Given the description of an element on the screen output the (x, y) to click on. 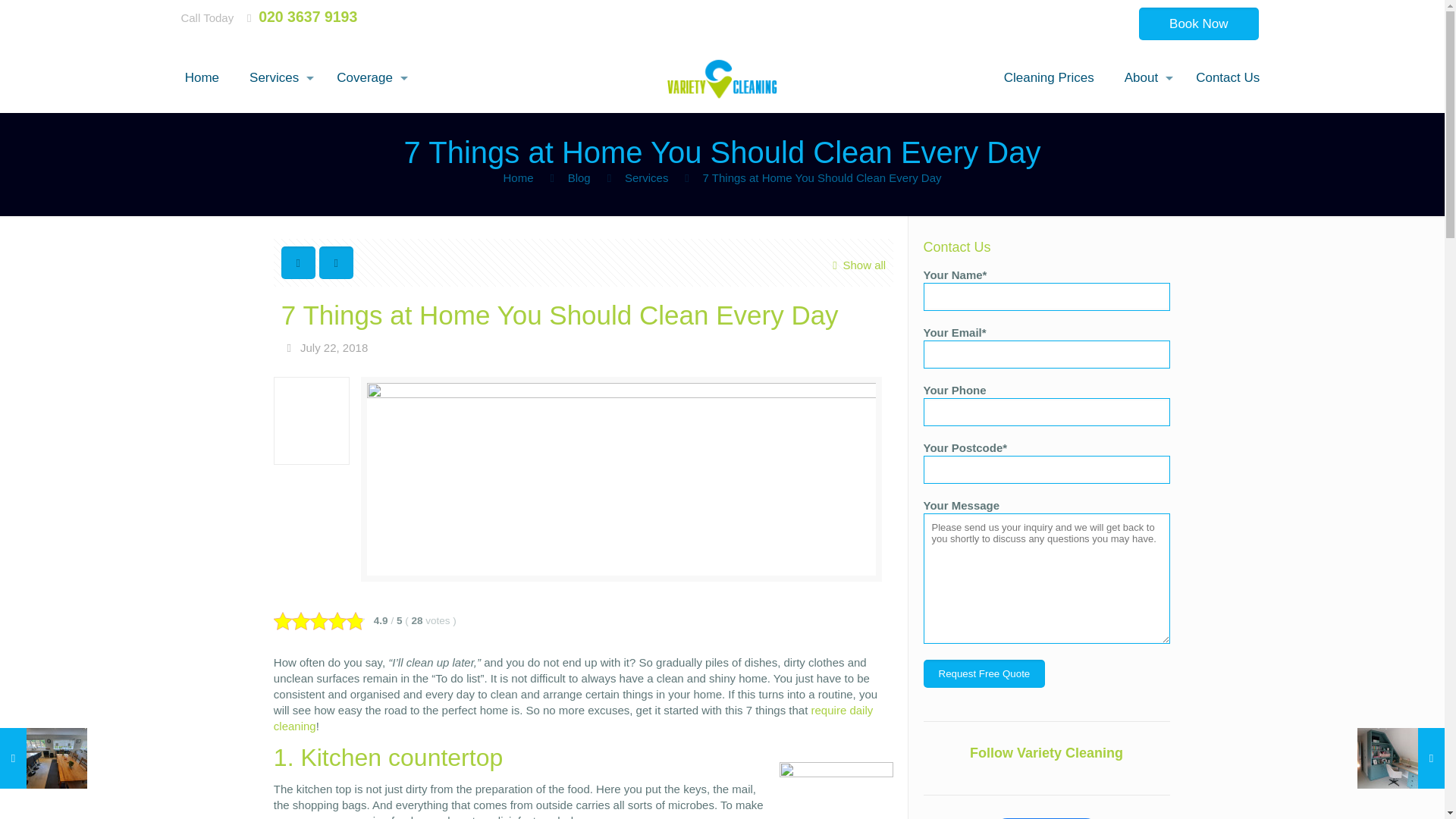
Services (646, 177)
Blog (579, 177)
About (1144, 78)
Variety Cleaning (722, 78)
020 3637 9193 (307, 16)
Coverage (367, 78)
Book Now (1197, 23)
Home (517, 177)
Request Free Quote (984, 673)
Home (202, 78)
Services (277, 78)
Contact Us (1227, 78)
